Given the description of an element on the screen output the (x, y) to click on. 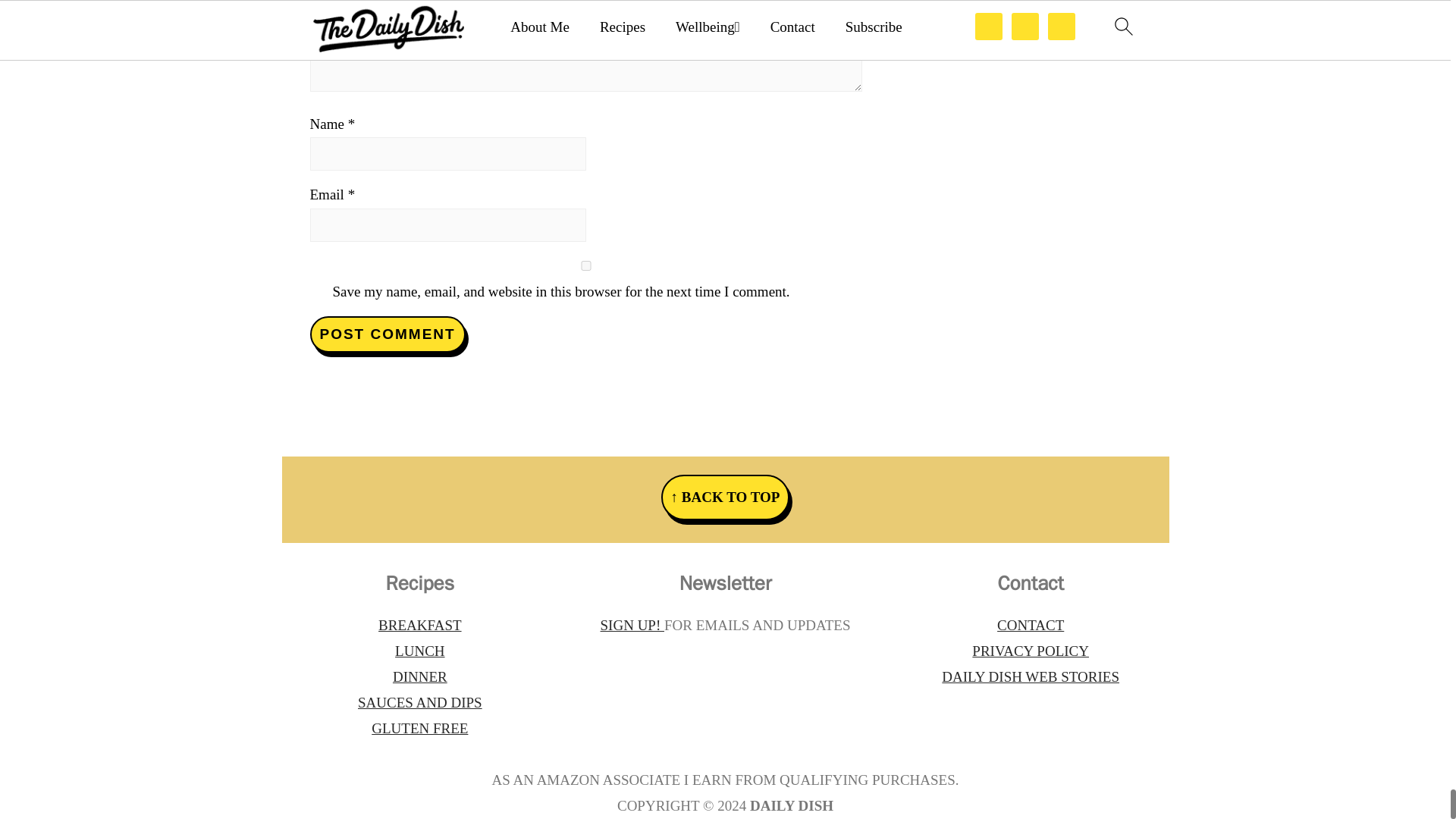
Post Comment (386, 334)
yes (584, 266)
